Given the description of an element on the screen output the (x, y) to click on. 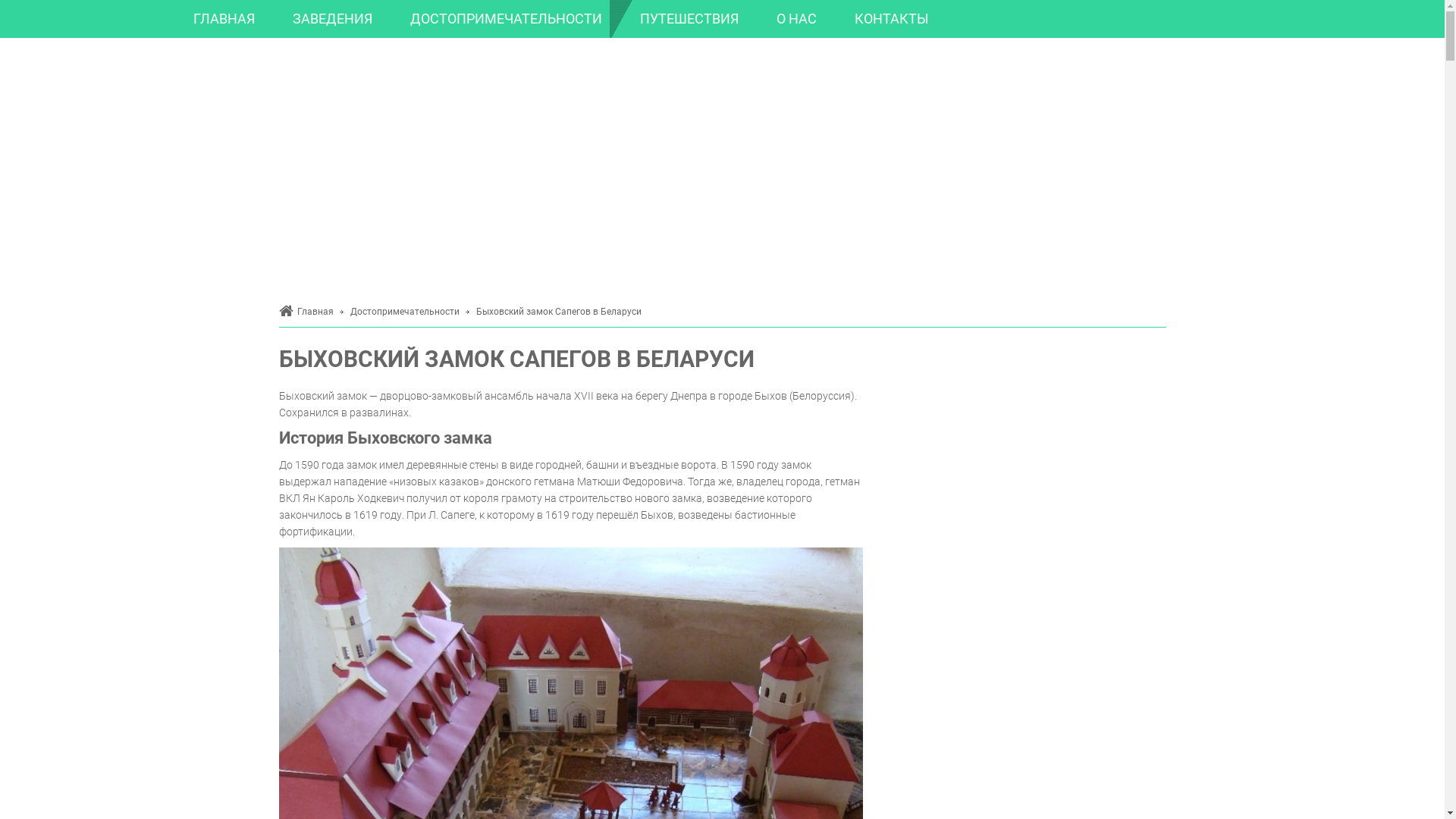
Advertisement Element type: hover (721, 166)
